Given the description of an element on the screen output the (x, y) to click on. 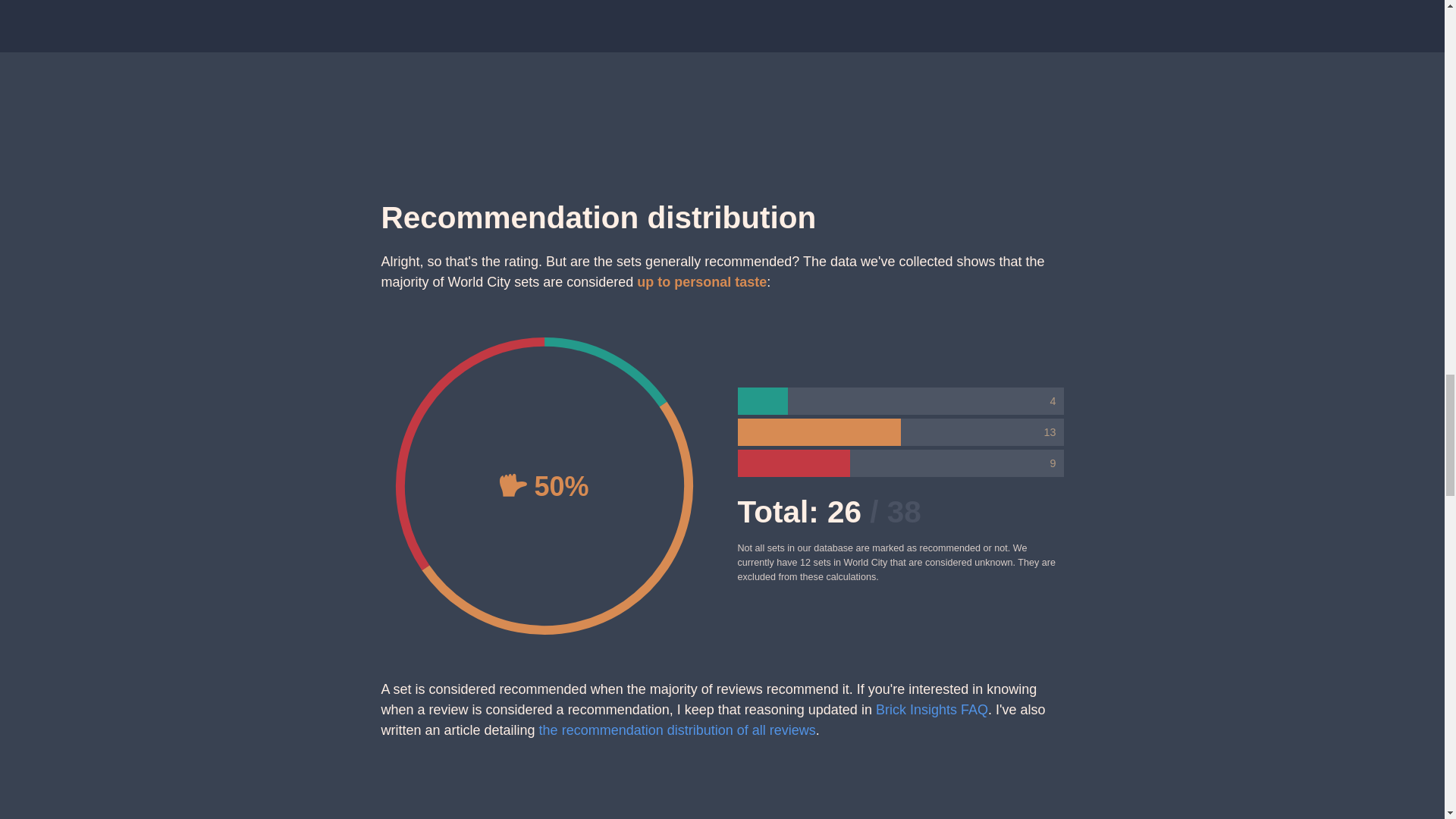
Brick Insights FAQ (932, 709)
the recommendation distribution of all reviews (676, 729)
